Given the description of an element on the screen output the (x, y) to click on. 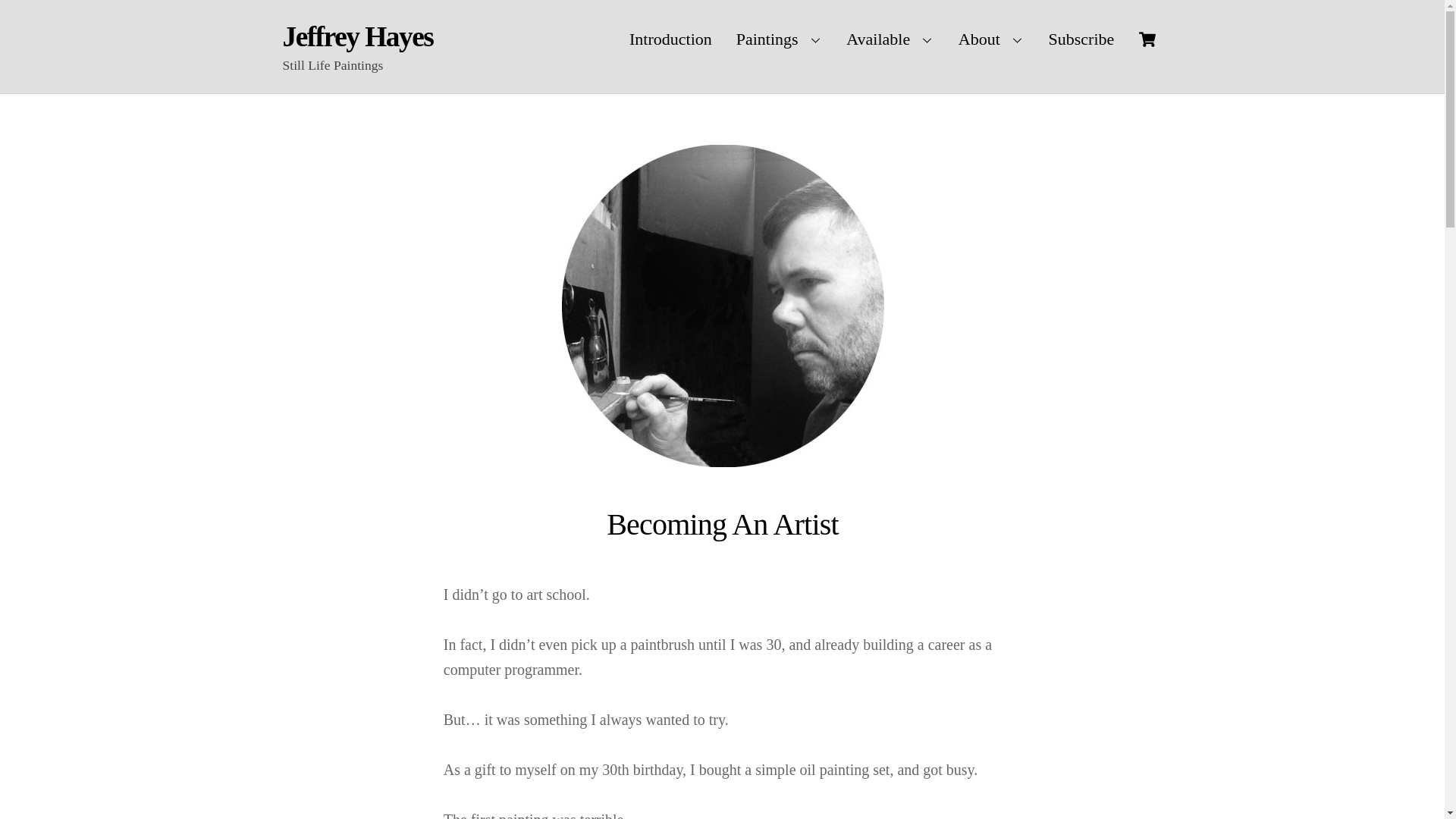
Jeffrey Hayes (357, 36)
Available (889, 38)
Jeffrey Hayes (357, 36)
About (991, 38)
Introduction (671, 38)
Subscribe (1081, 38)
Paintings (779, 38)
Working-BW-Circle (721, 305)
Cart (721, 38)
